Given the description of an element on the screen output the (x, y) to click on. 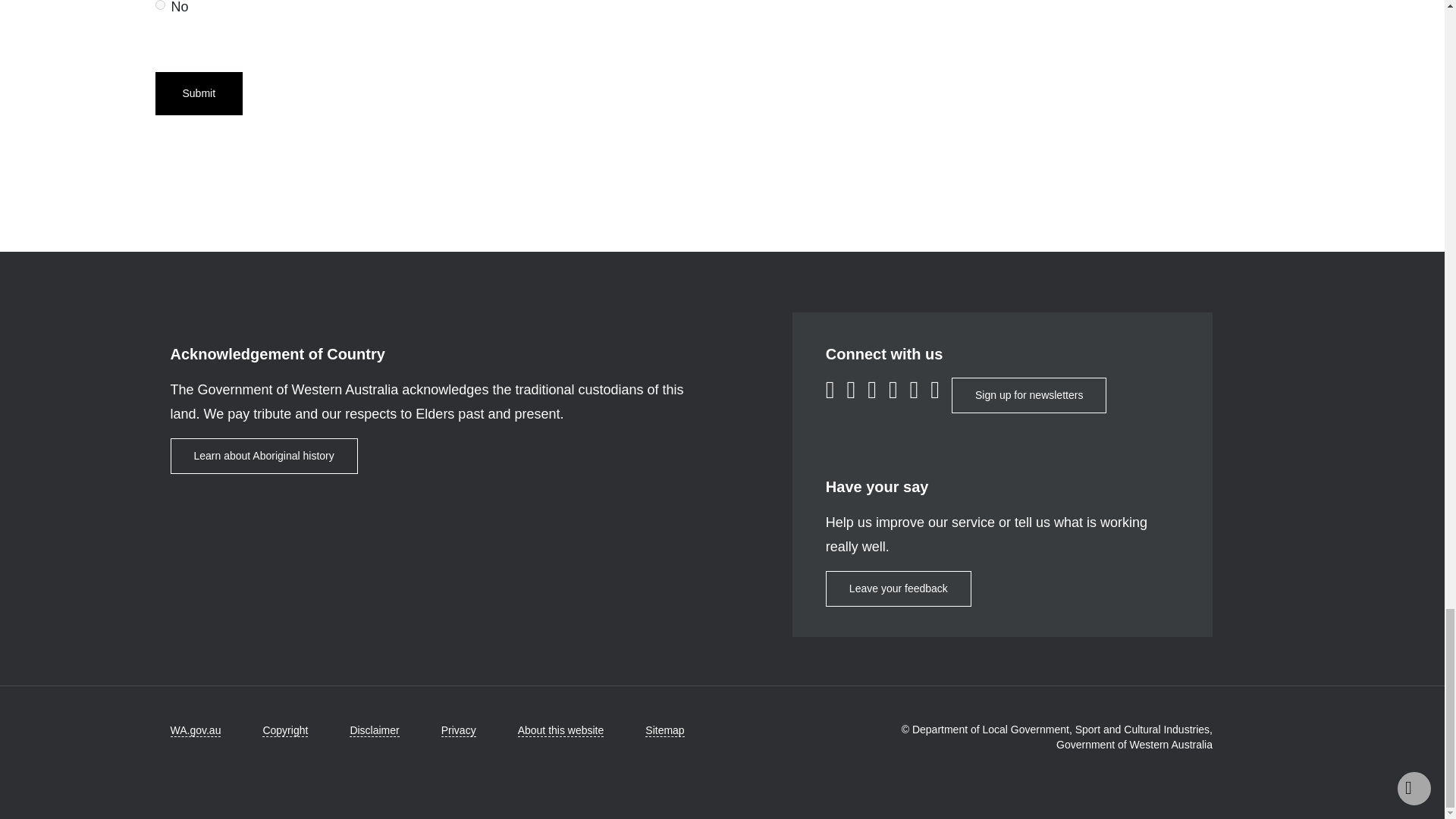
No (159, 4)
